Given the description of an element on the screen output the (x, y) to click on. 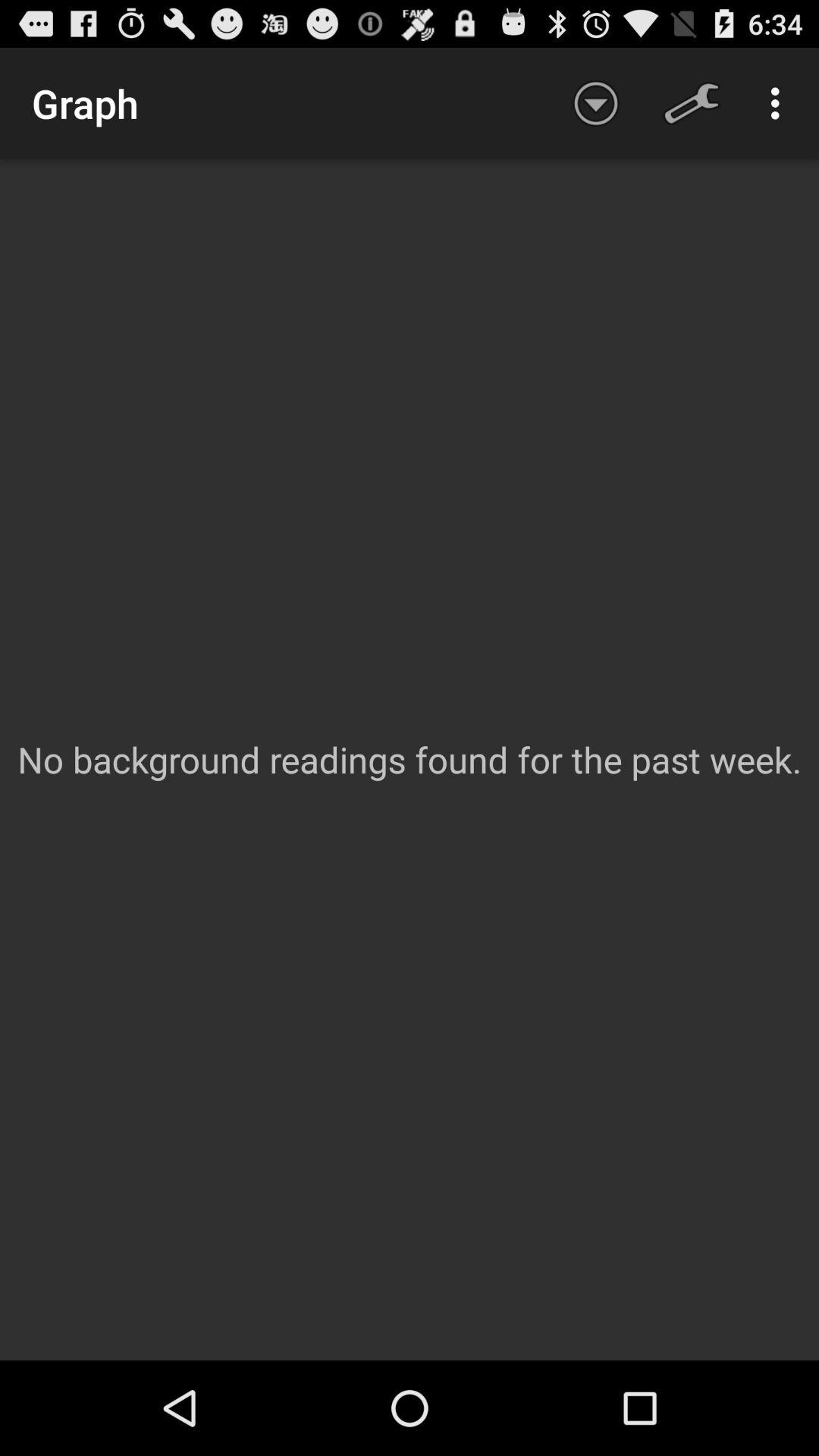
choose the icon next to graph item (595, 103)
